Given the description of an element on the screen output the (x, y) to click on. 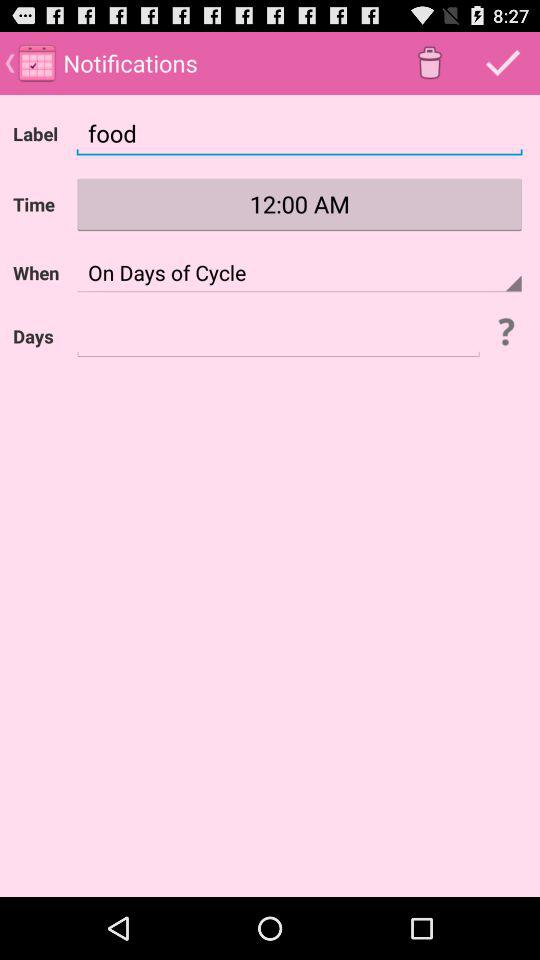
help for days (505, 331)
